Given the description of an element on the screen output the (x, y) to click on. 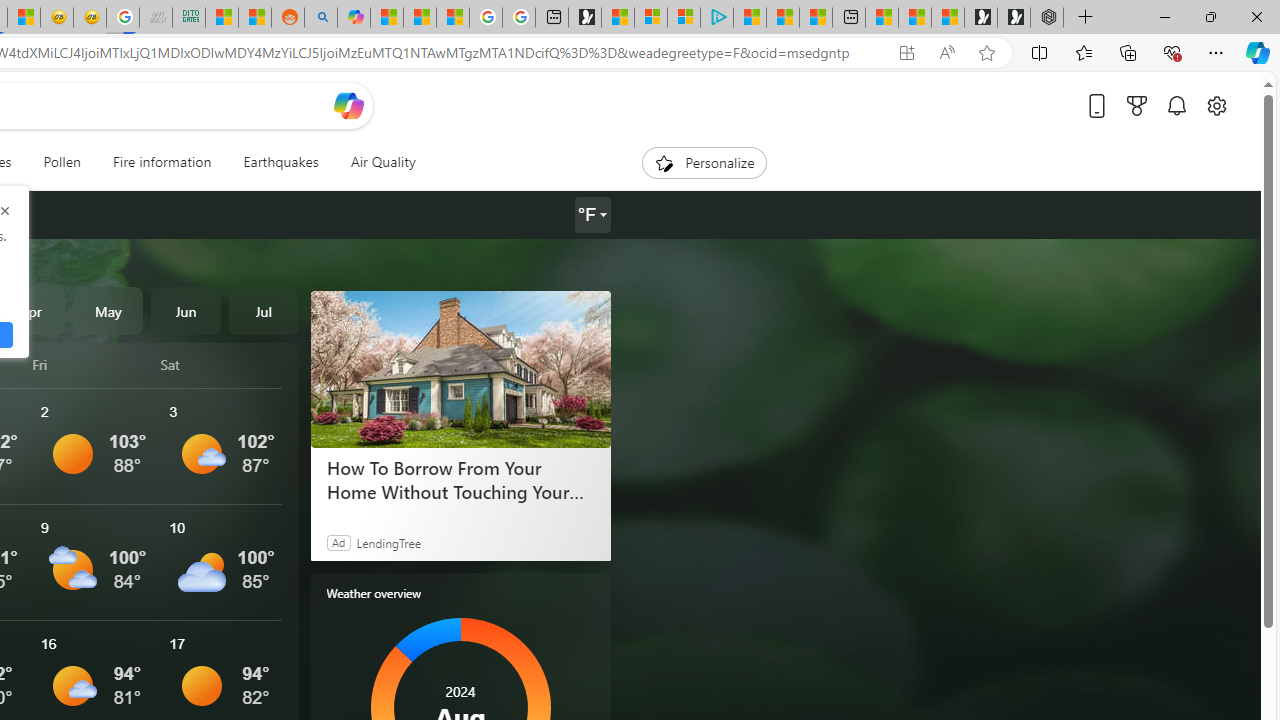
Pollen (61, 162)
Earthquakes (280, 162)
Navy Quest (155, 17)
Air Quality (382, 162)
Sat (221, 363)
Jun (186, 310)
